Given the description of an element on the screen output the (x, y) to click on. 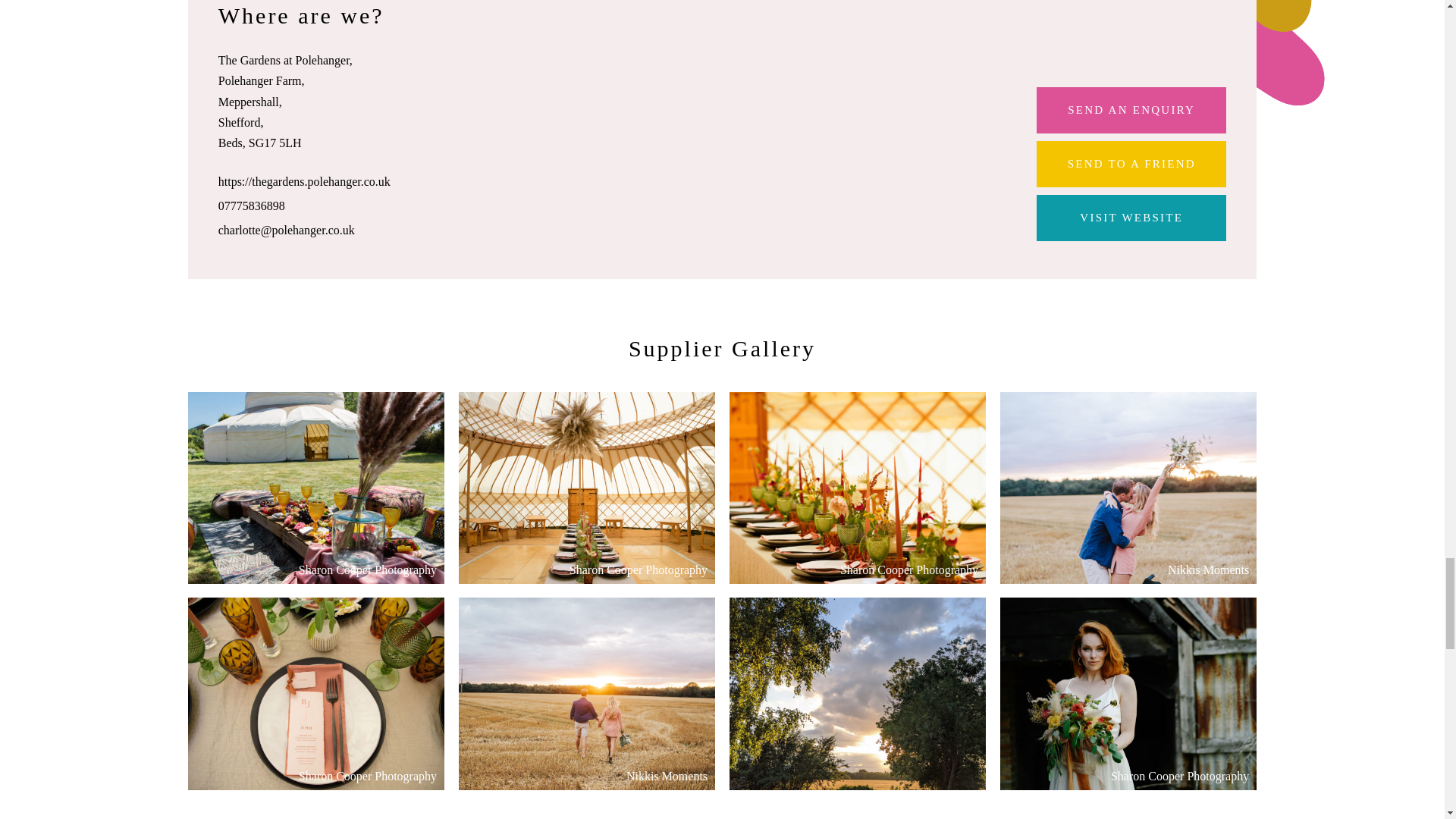
SEND AN ENQUIRY (1130, 109)
VISIT WEBSITE (1130, 217)
Sharon Cooper Photography (857, 488)
Nikkis Moments (586, 693)
SEND TO A FRIEND (1130, 163)
Sharon Cooper Photography (586, 488)
Sharon Cooper Photography (315, 693)
Nikkis Moments (1128, 488)
Sharon Cooper Photography (315, 488)
